Given the description of an element on the screen output the (x, y) to click on. 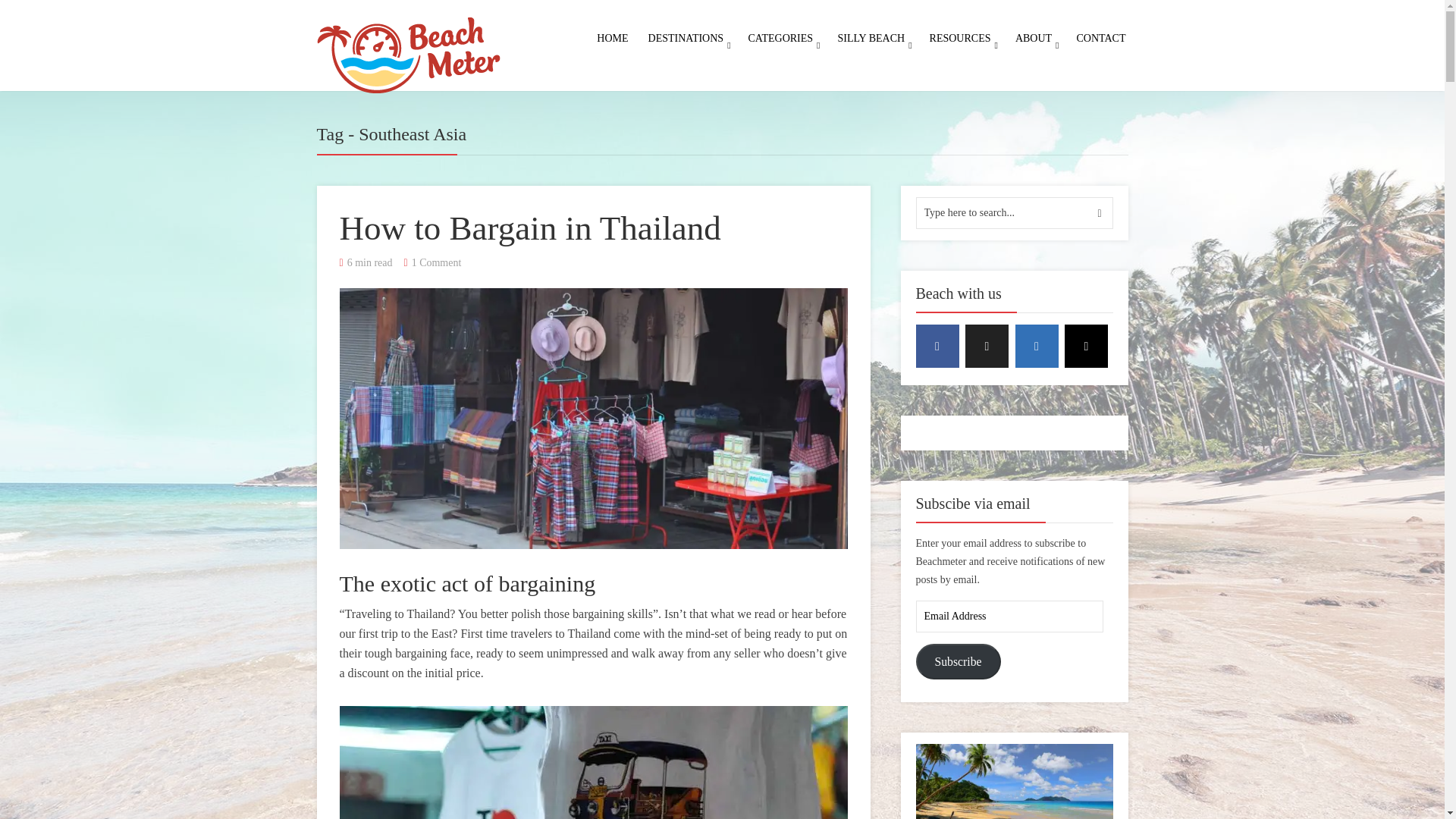
How to Bargain in Thailand (529, 228)
How to Bargain in Thailand (593, 418)
Type here to search... (1014, 213)
Beachmeter (408, 51)
Type here to search... (1014, 213)
Facebook (937, 345)
